Given the description of an element on the screen output the (x, y) to click on. 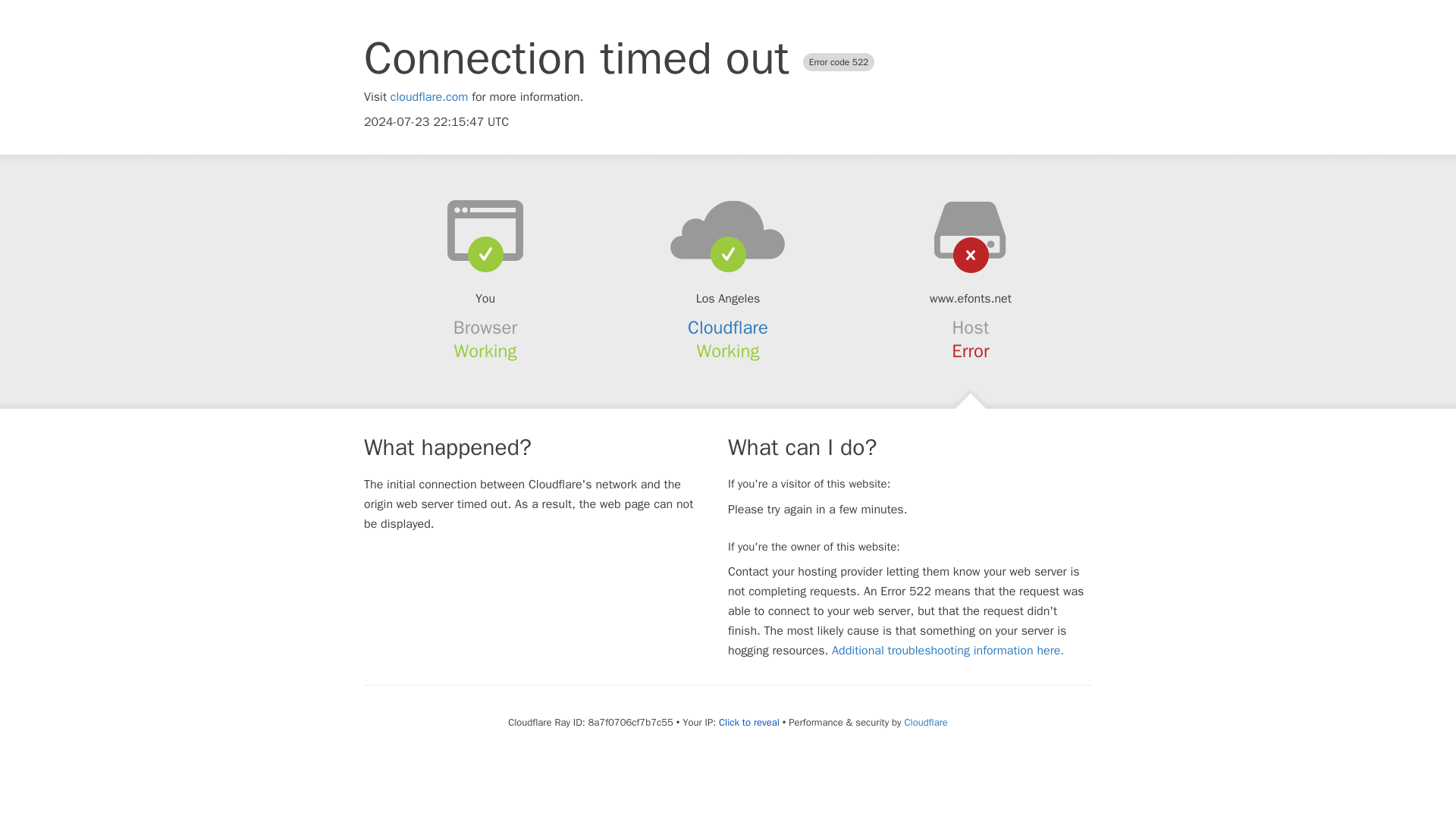
Additional troubleshooting information here. (947, 650)
cloudflare.com (429, 96)
Cloudflare (727, 327)
Cloudflare (925, 721)
Click to reveal (748, 722)
